Given the description of an element on the screen output the (x, y) to click on. 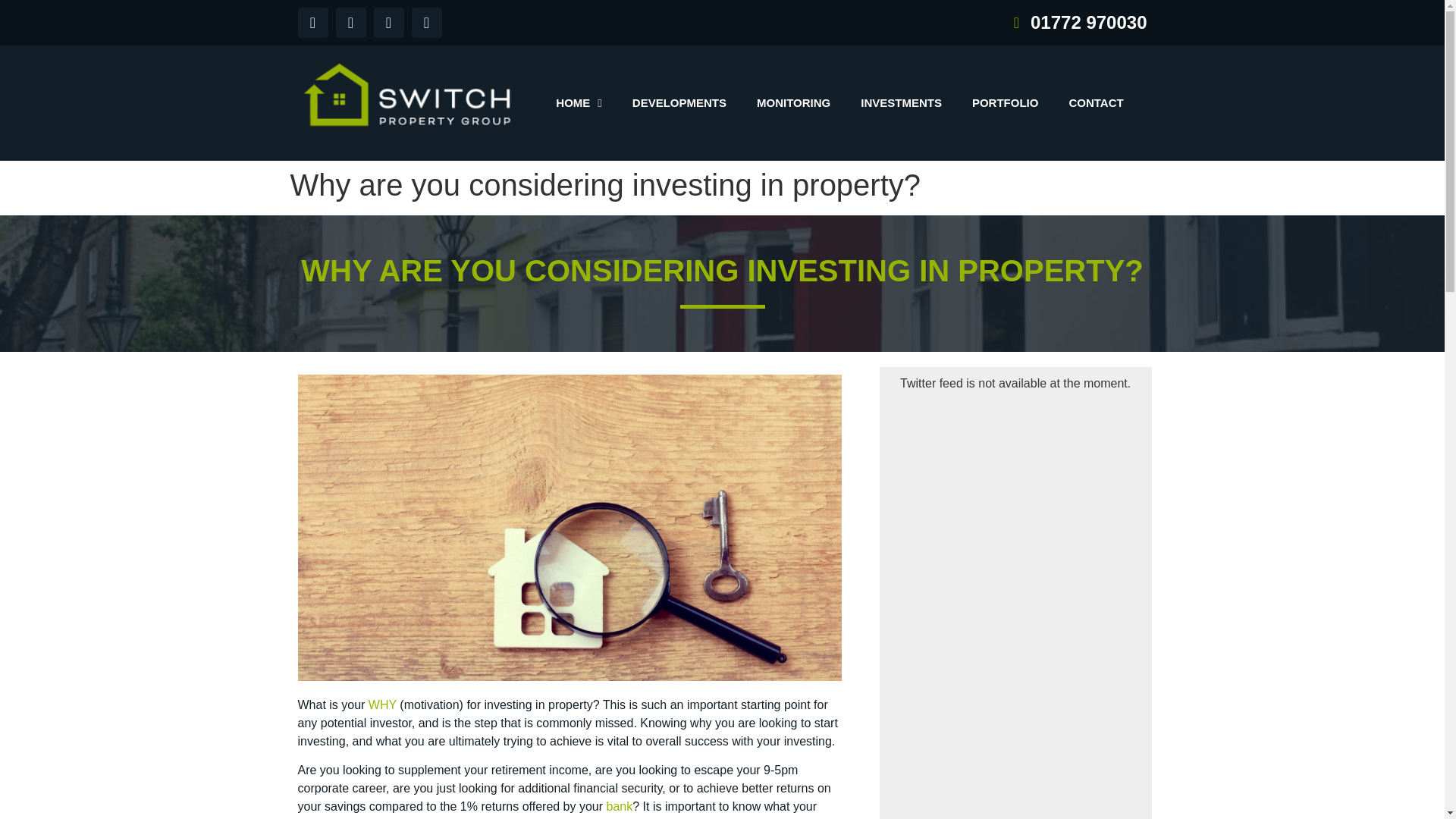
INVESTMENTS (900, 102)
MONITORING (793, 102)
CONTACT (1095, 102)
01772 970030 (938, 22)
HOME (577, 102)
PORTFOLIO (1005, 102)
DEVELOPMENTS (679, 102)
